Given the description of an element on the screen output the (x, y) to click on. 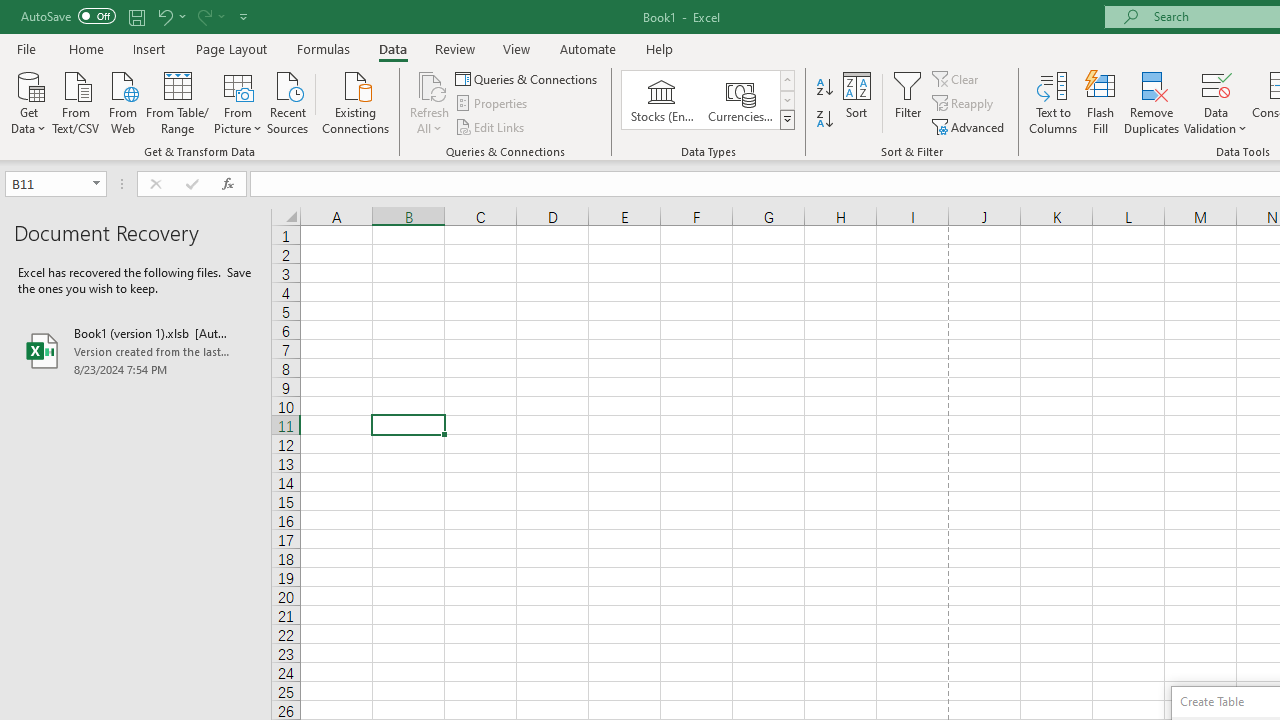
Sort A to Z (824, 87)
Recent Sources (287, 101)
Advanced... (970, 126)
Filter (908, 102)
Sort... (856, 102)
Currencies (English) (740, 100)
